Given the description of an element on the screen output the (x, y) to click on. 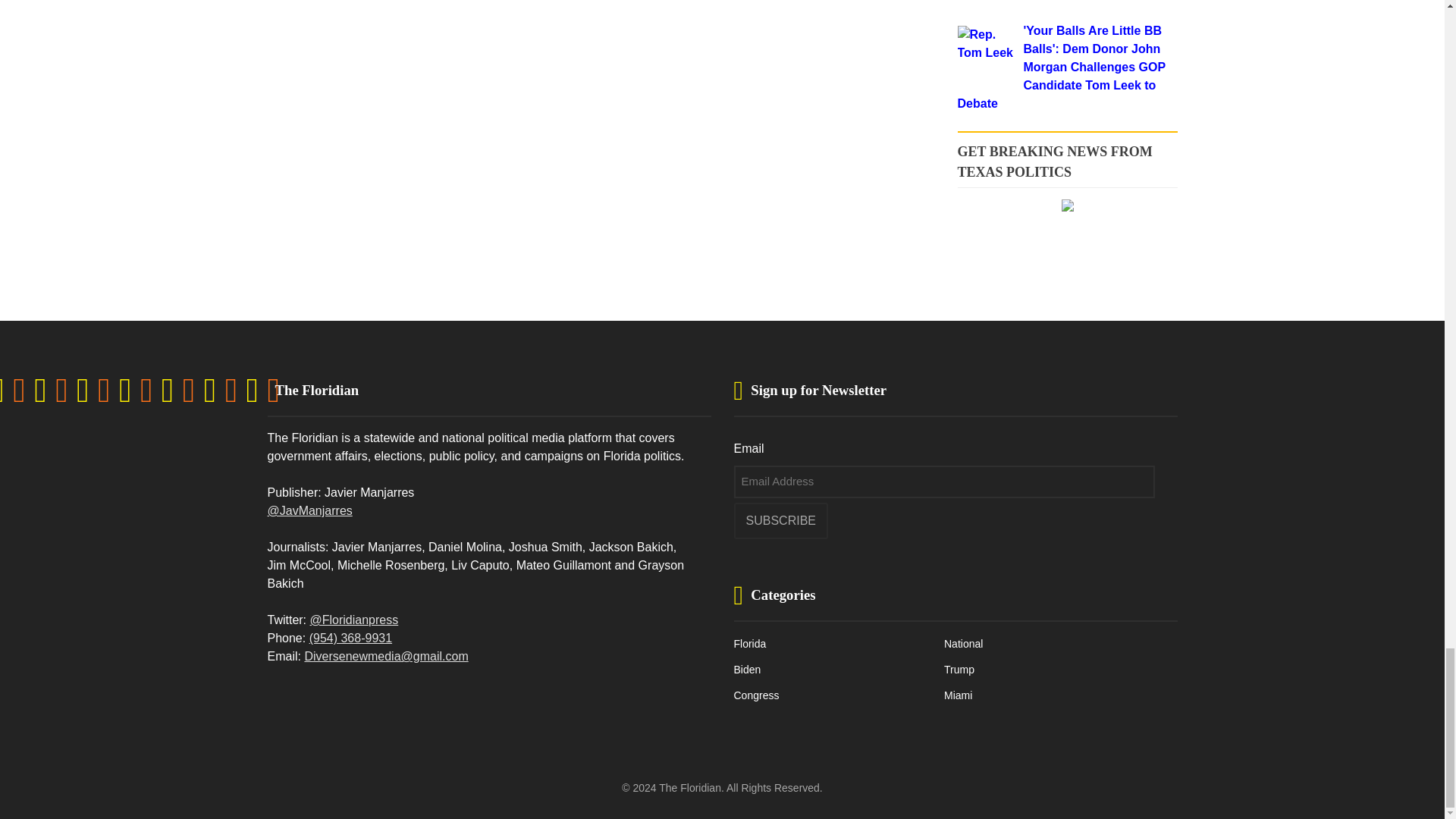
SUBSCRIBE (780, 520)
